Given the description of an element on the screen output the (x, y) to click on. 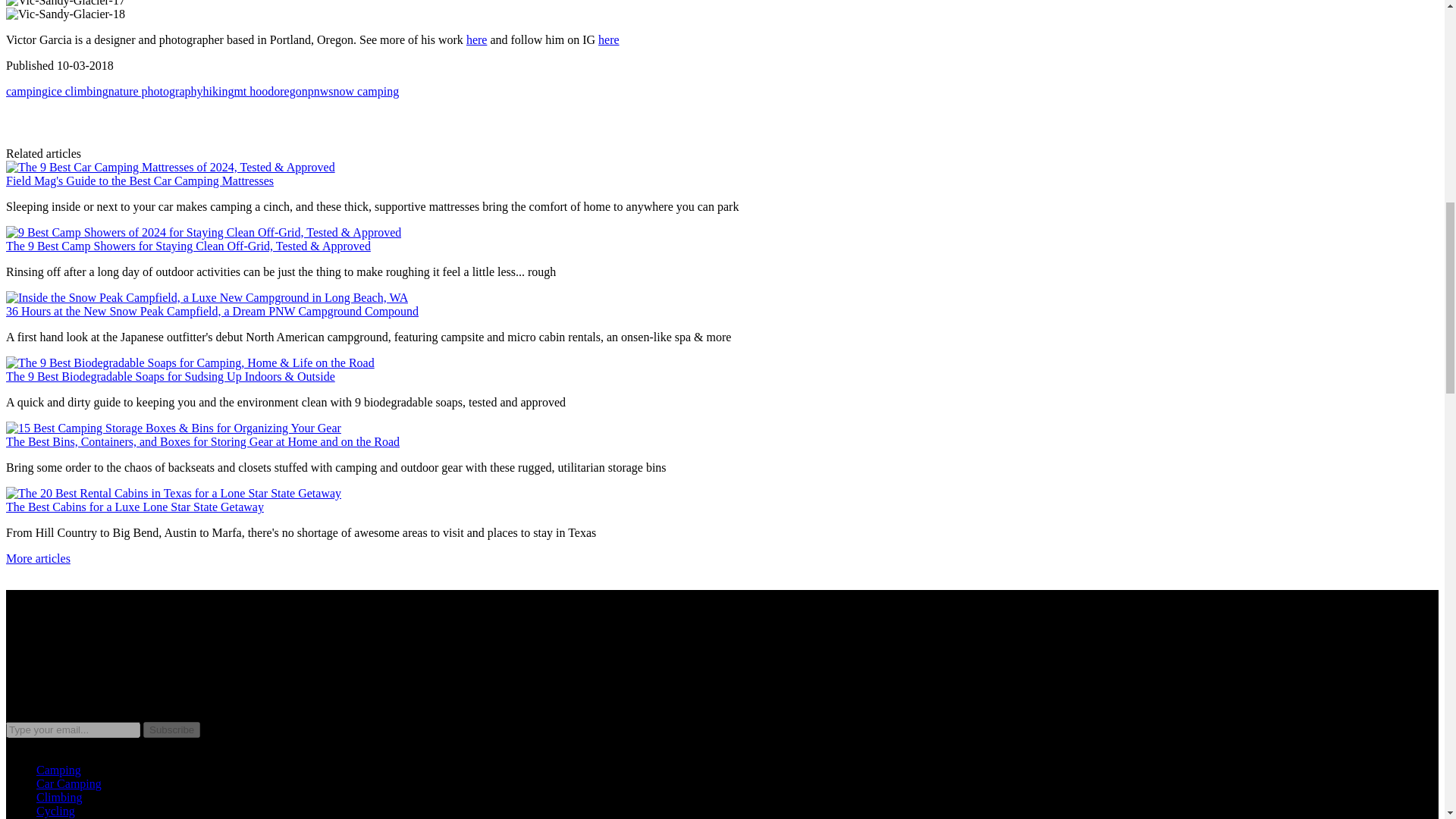
The Best Cabins for a Luxe Lone Star State Getaway (134, 506)
ice climbing (77, 91)
More articles (37, 558)
hiking (217, 91)
mt hood (252, 91)
Field Mag's Guide to the Best Car Camping Mattresses (139, 180)
pnw (318, 91)
camping (26, 91)
oregon (290, 91)
nature photography (155, 91)
here (476, 39)
snow camping (363, 91)
Subscribe (171, 729)
